Given the description of an element on the screen output the (x, y) to click on. 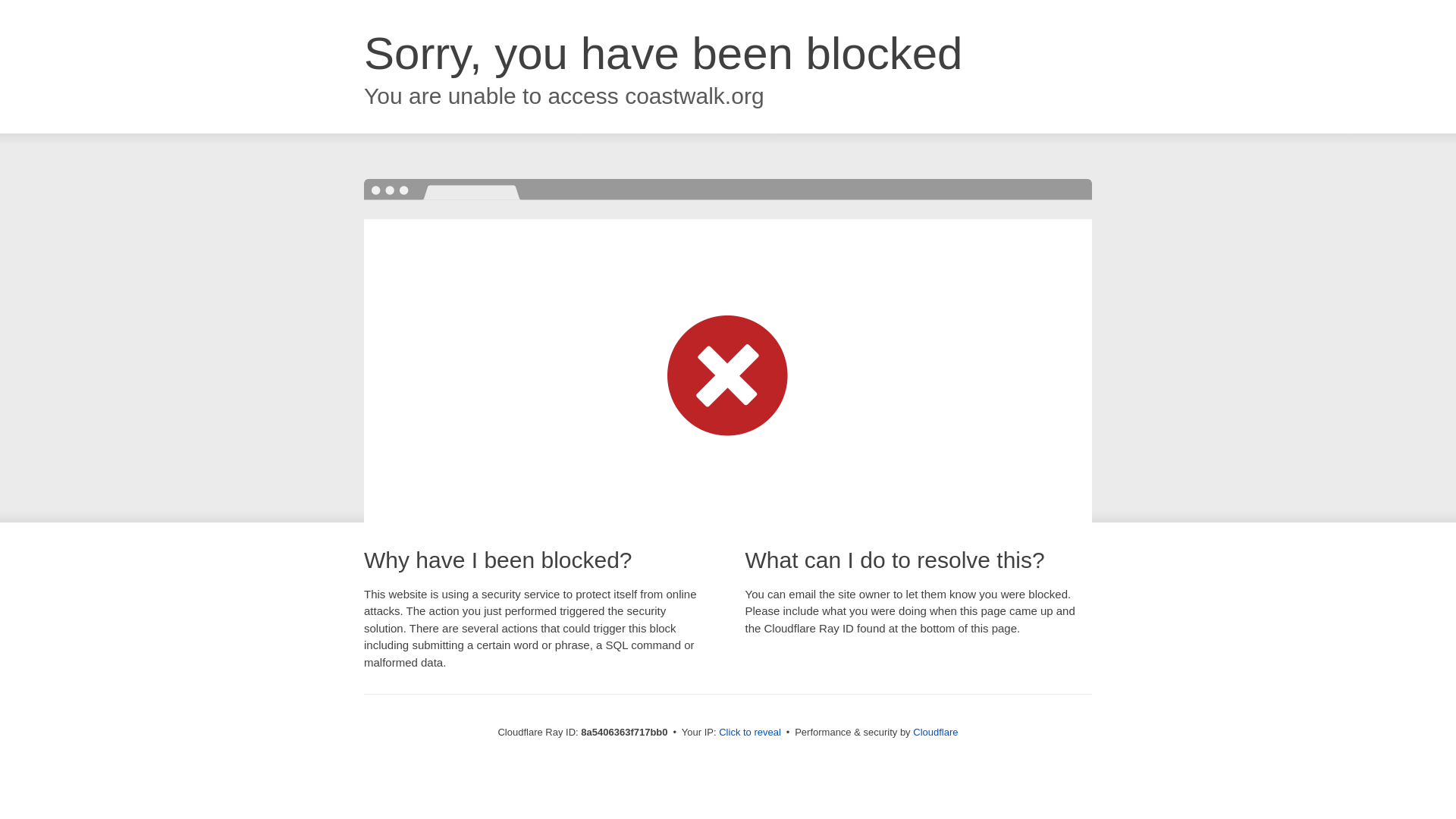
Click to reveal (749, 732)
Cloudflare (935, 731)
